Given the description of an element on the screen output the (x, y) to click on. 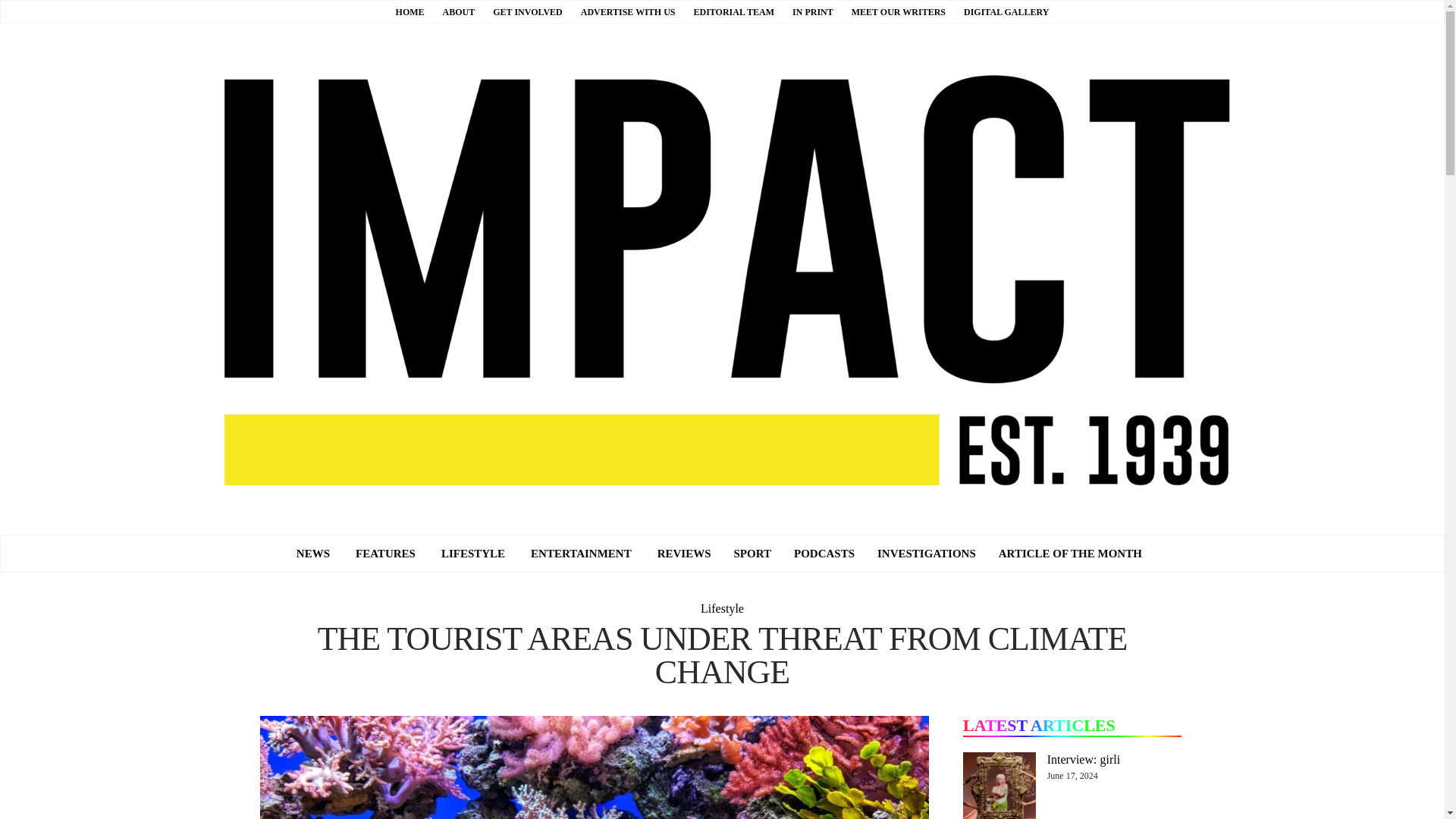
IN PRINT (812, 11)
ADVERTISE WITH US (627, 11)
GET INVOLVED (527, 11)
MEET OUR WRITERS (897, 11)
DIGITAL GALLERY (1005, 11)
ABOUT (459, 11)
NEWS (312, 553)
HOME (410, 11)
News (312, 553)
EDITORIAL TEAM (733, 11)
